Given the description of an element on the screen output the (x, y) to click on. 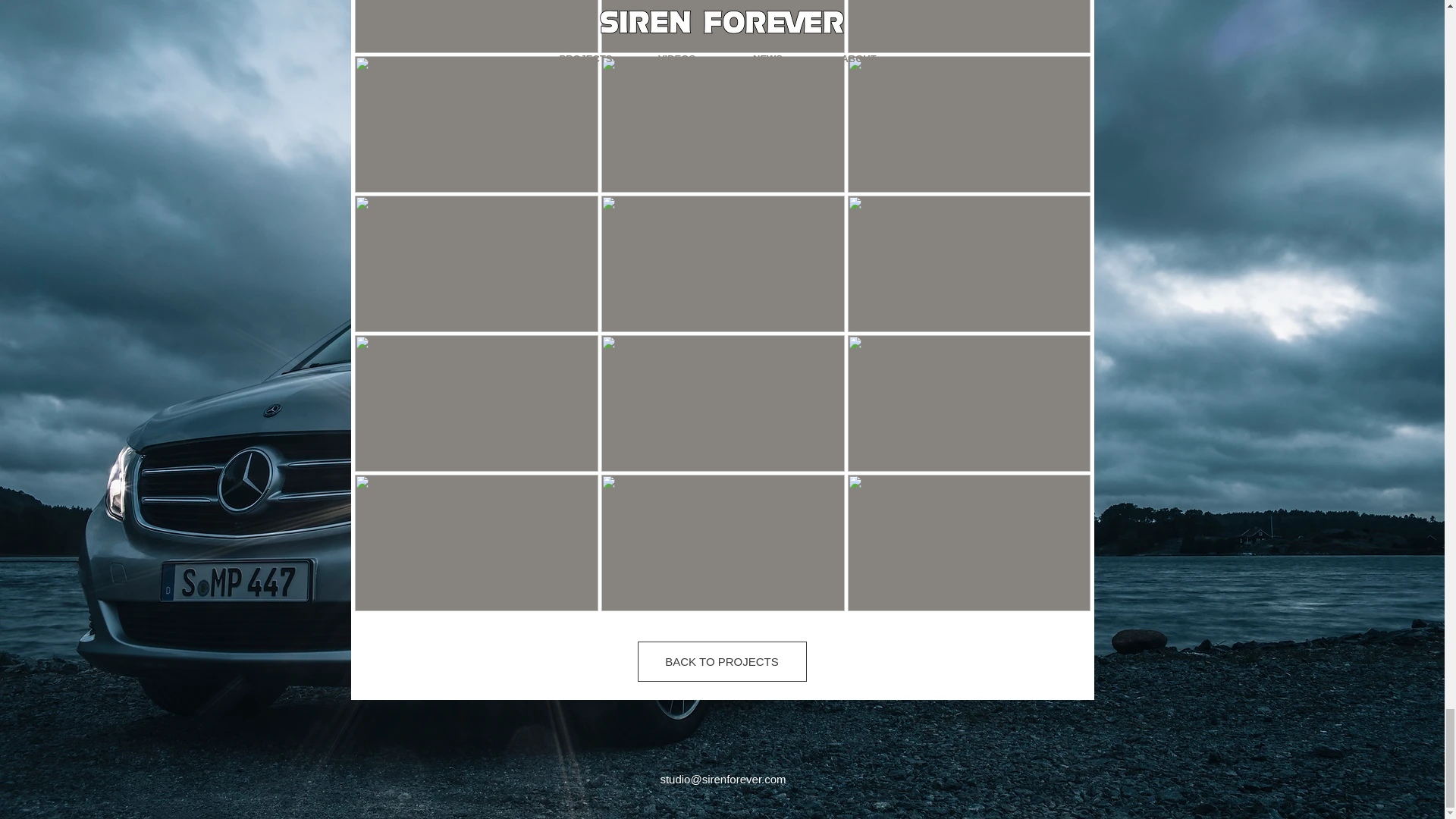
BACK TO PROJECTS (721, 661)
